Given the description of an element on the screen output the (x, y) to click on. 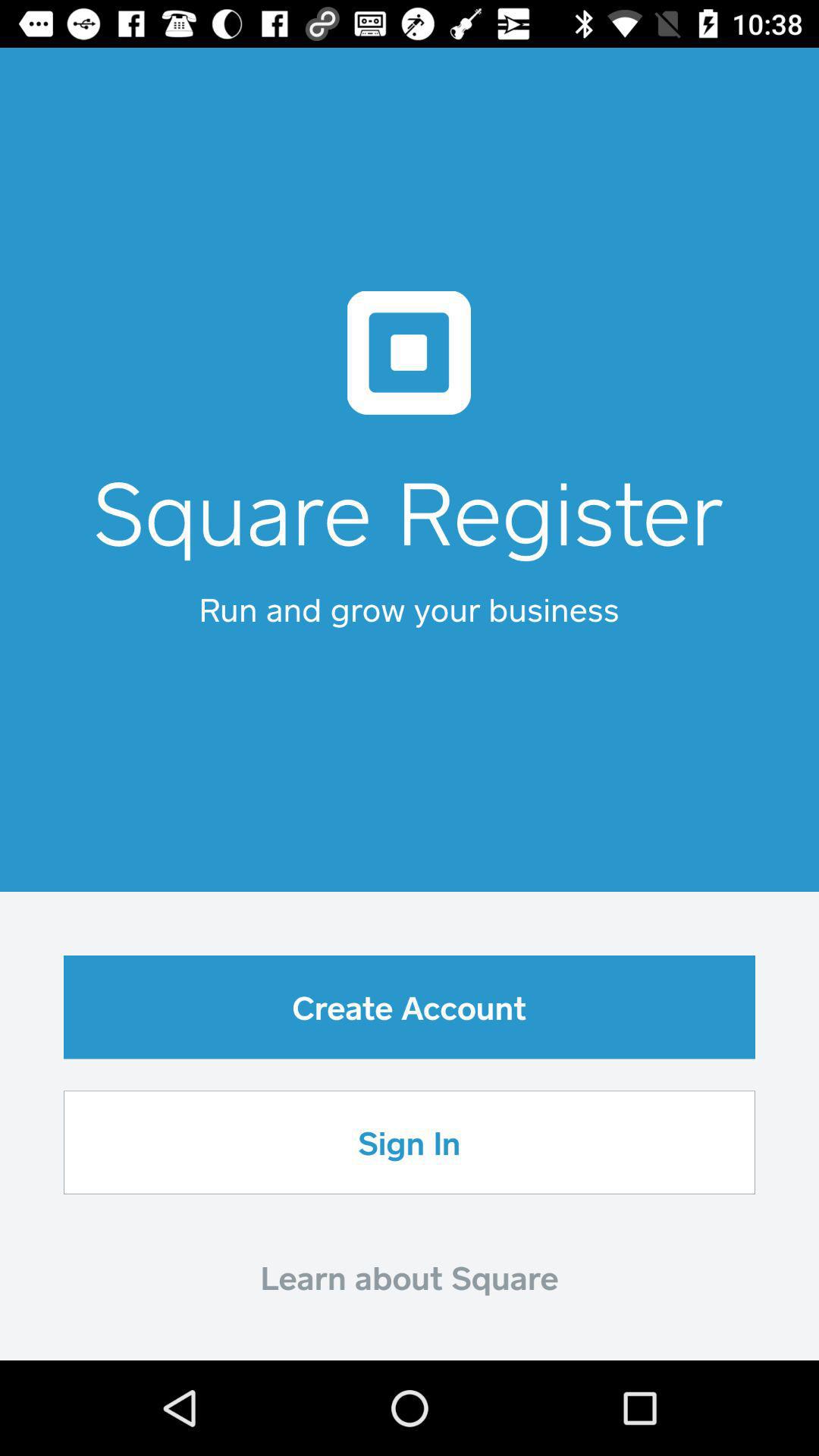
turn on item below sign in icon (409, 1277)
